Given the description of an element on the screen output the (x, y) to click on. 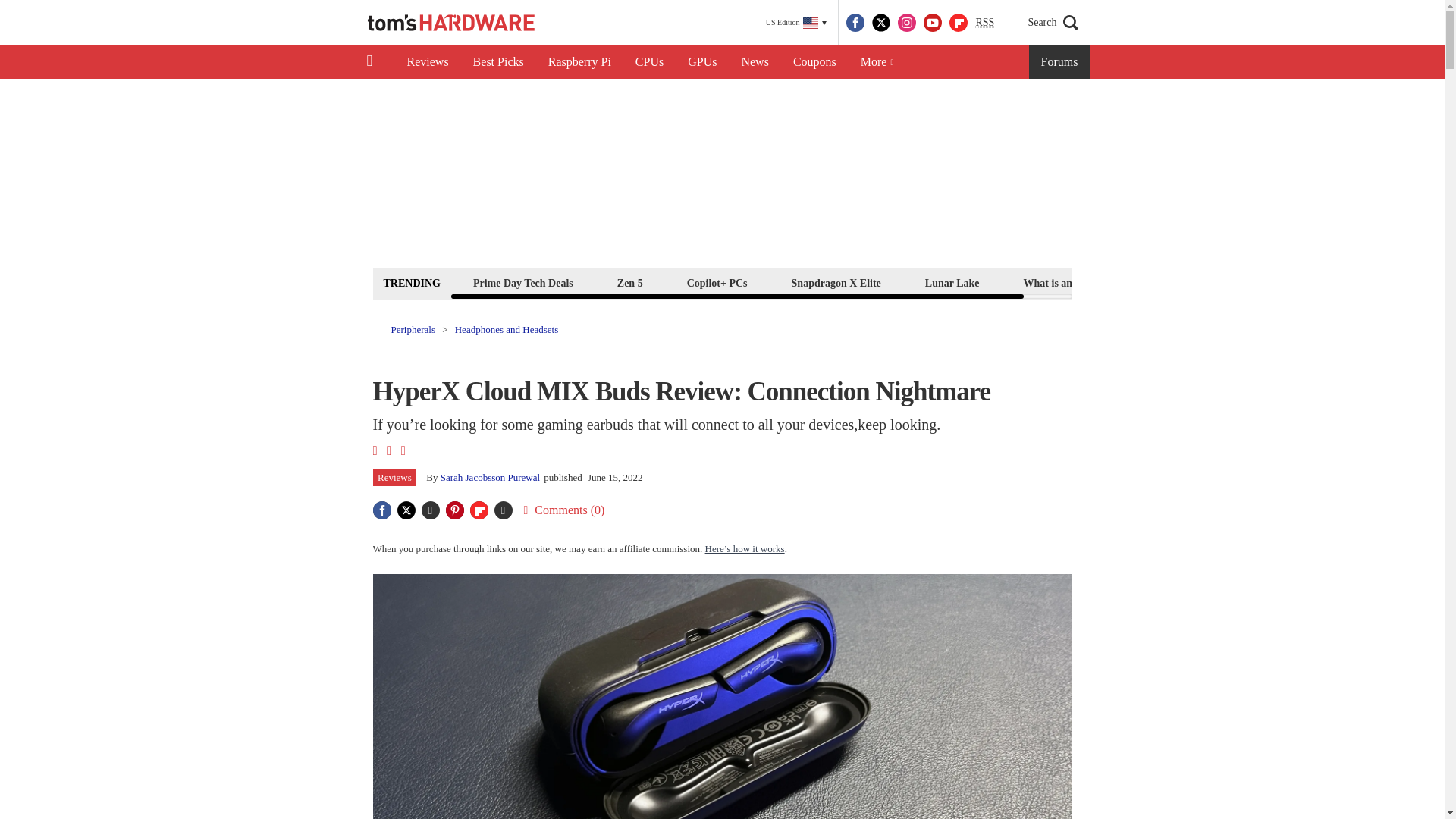
Prime Day Tech Deals (522, 282)
Really Simple Syndication (984, 21)
US Edition (796, 22)
News (754, 61)
Reviews (427, 61)
RSS (984, 22)
Coupons (814, 61)
Raspberry Pi (579, 61)
CPUs (649, 61)
Best Picks (498, 61)
GPUs (702, 61)
Forums (1059, 61)
